Given the description of an element on the screen output the (x, y) to click on. 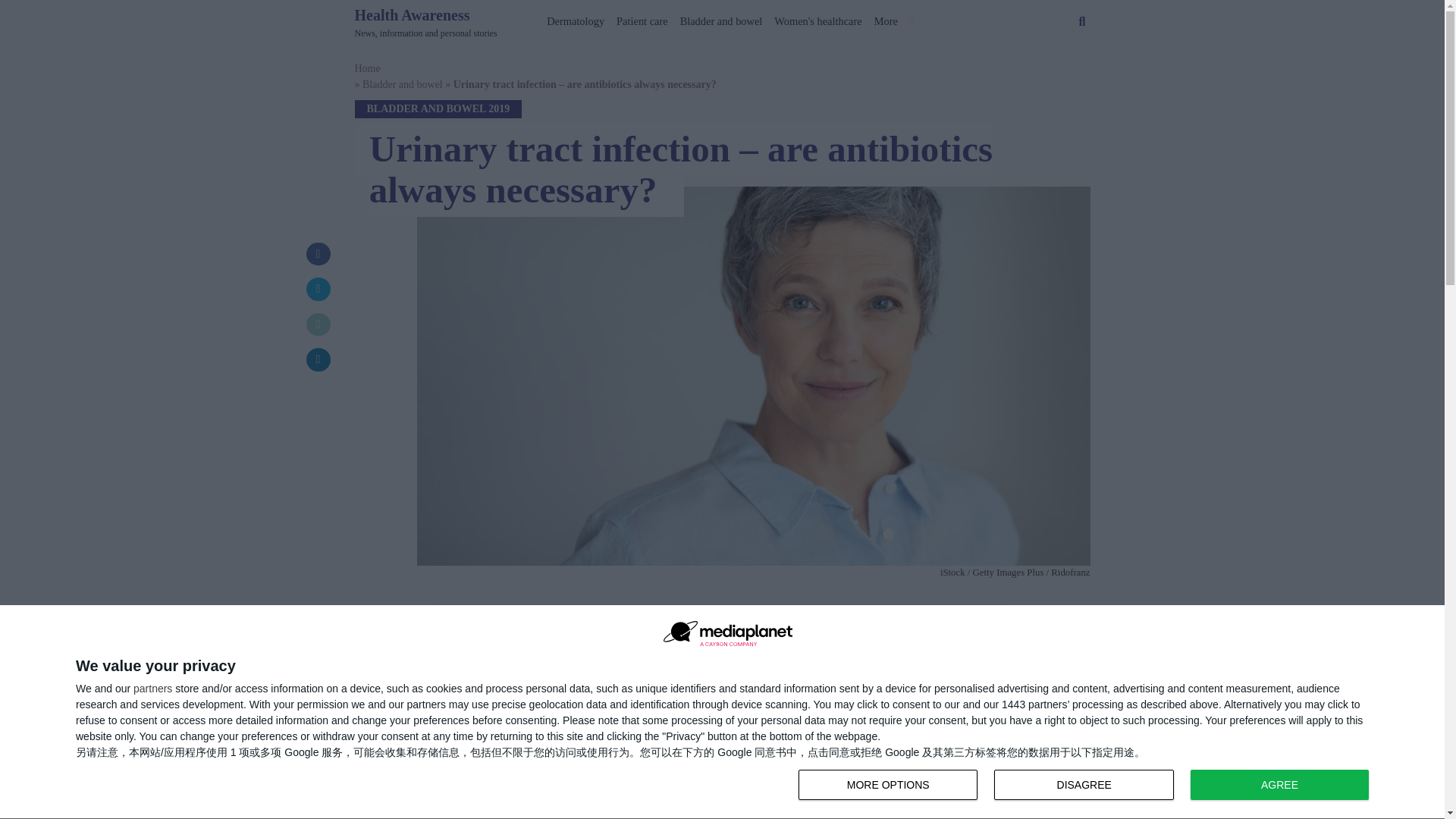
More (885, 18)
Dermatology (575, 18)
Bladder and bowel (721, 18)
Women's healthcare (817, 18)
AGREE (1279, 784)
partners (152, 688)
DISAGREE (1083, 784)
Patient care (1086, 785)
MORE OPTIONS (426, 22)
